Given the description of an element on the screen output the (x, y) to click on. 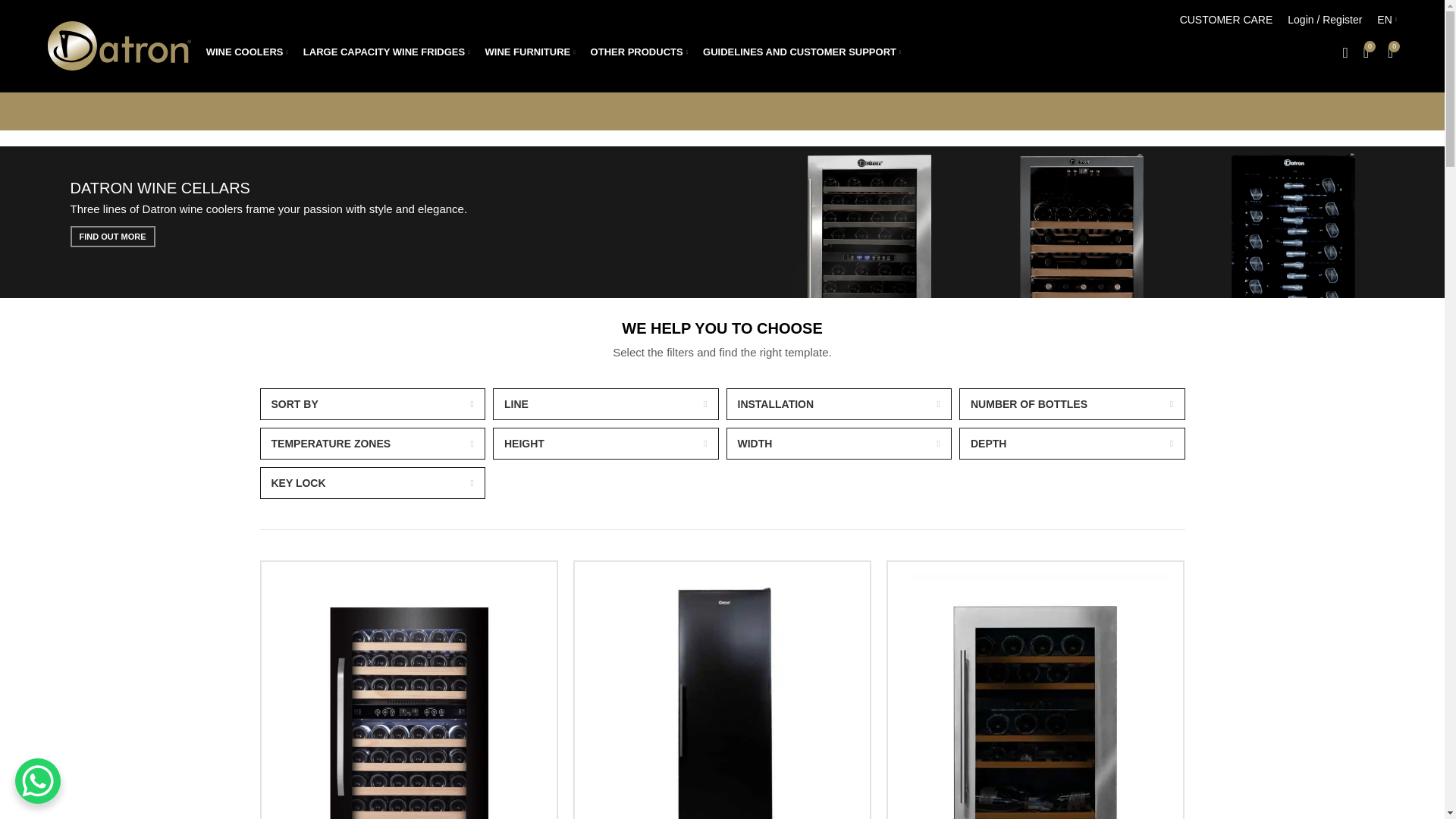
CUSTOMER CARE (1226, 19)
EN (1387, 19)
Log in (1236, 240)
banner-cantinetta-linee-design (1080, 222)
banner-cantinetta-linee-luxury-show (1291, 222)
WINE COOLERS (246, 51)
My account (1324, 19)
banner-cantinetta-linee-inox-01 (867, 222)
en (1387, 19)
